Given the description of an element on the screen output the (x, y) to click on. 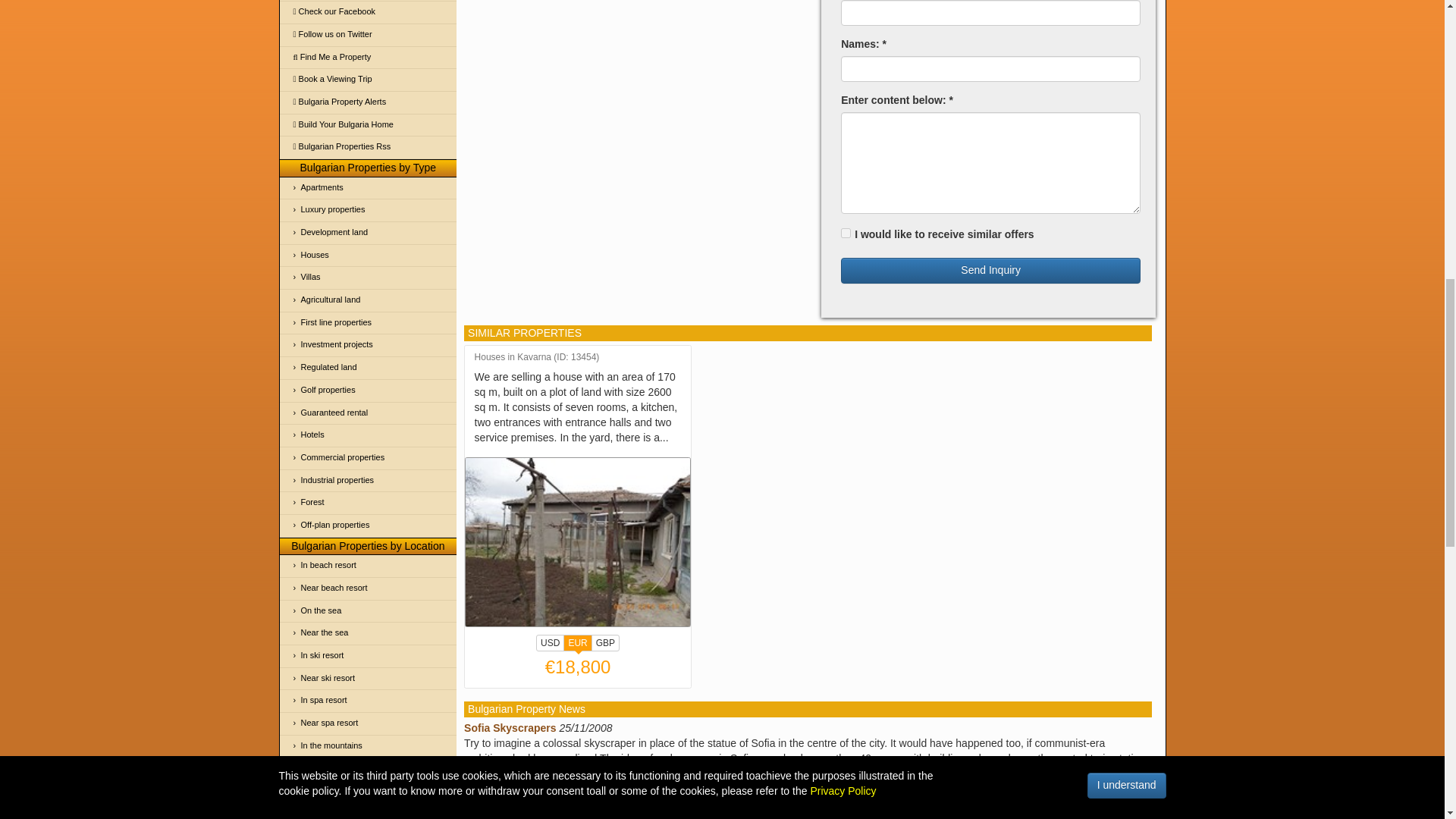
Houses (368, 255)
Apartments (368, 188)
1 (845, 233)
Bulgarian Properties Rss (368, 147)
Build Your Bulgaria Home (368, 125)
Development land (368, 232)
Villas (368, 277)
Check our Facebook (368, 12)
Bulgaria Property Alerts (368, 102)
Luxury properties (368, 210)
Find Me a Property (368, 57)
Follow us on Twitter (368, 34)
Agricultural land (368, 300)
First line properties (368, 323)
